Given the description of an element on the screen output the (x, y) to click on. 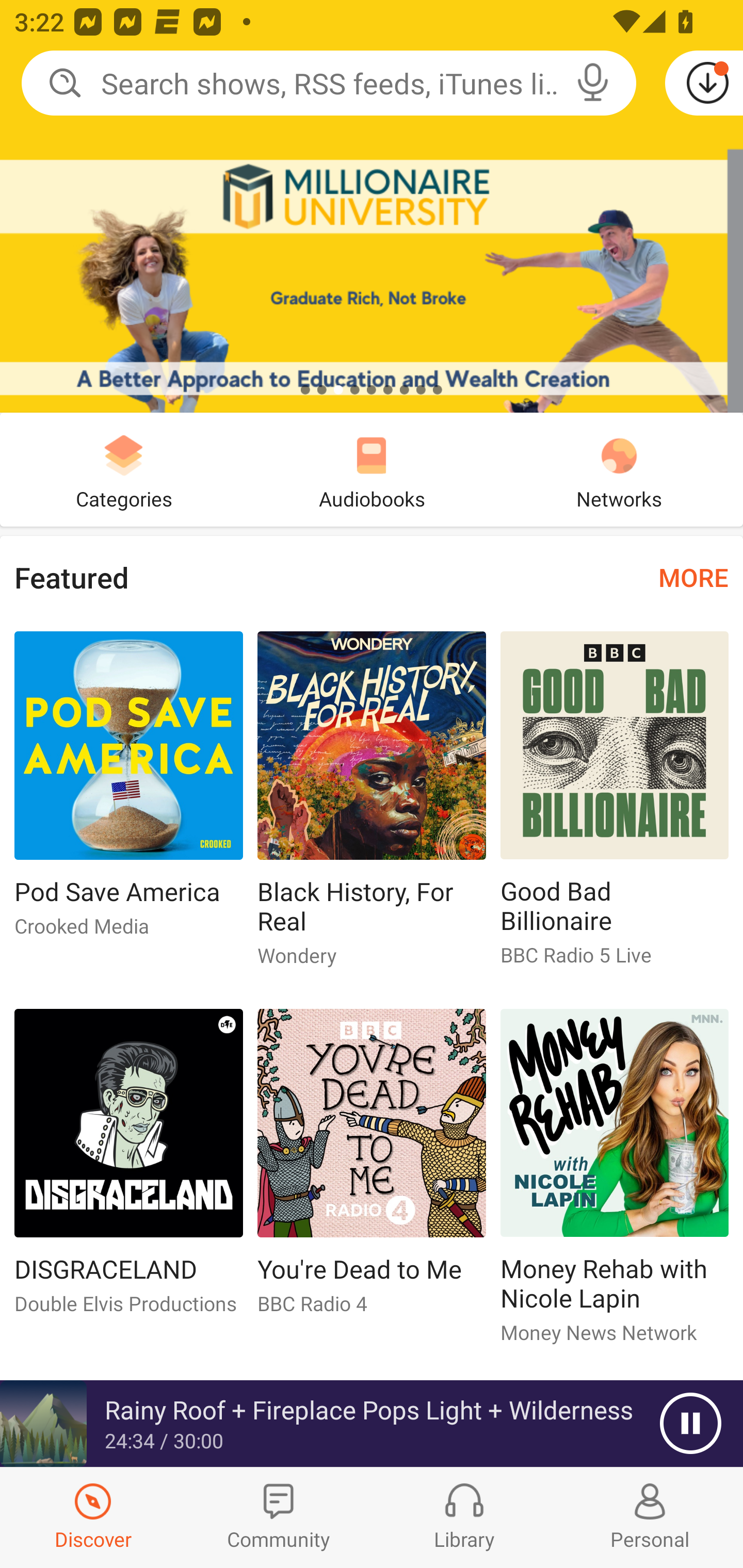
Millionaire University (371, 206)
Categories (123, 469)
Audiobooks (371, 469)
Networks (619, 469)
MORE (693, 576)
Pod Save America Pod Save America Crooked Media (128, 792)
DISGRACELAND DISGRACELAND Double Elvis Productions (128, 1169)
You're Dead to Me You're Dead to Me BBC Radio 4 (371, 1169)
Pause (690, 1423)
Discover (92, 1517)
Community (278, 1517)
Library (464, 1517)
Profiles and Settings Personal (650, 1517)
